Given the description of an element on the screen output the (x, y) to click on. 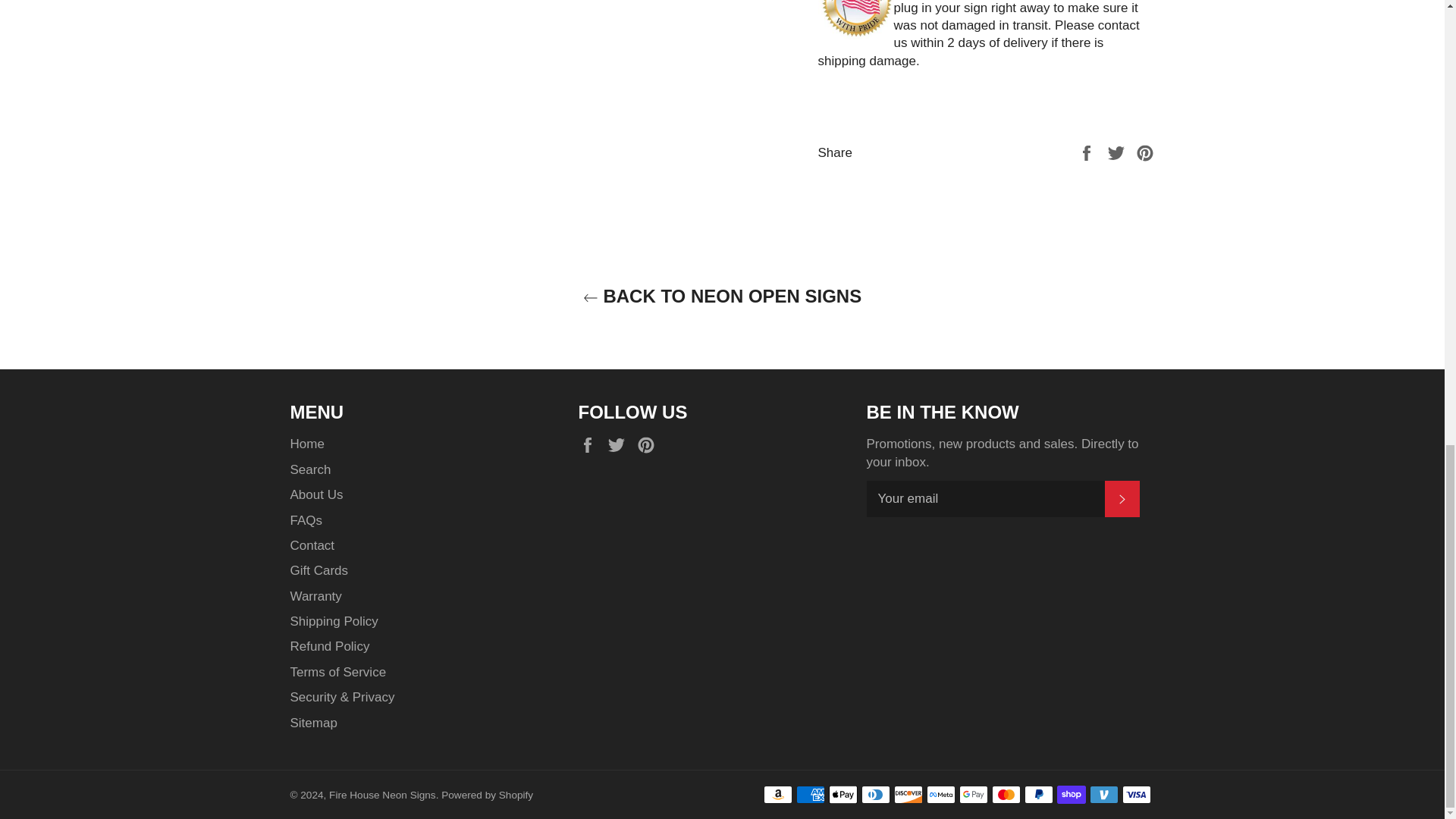
Fire House Neon Signs on Twitter (620, 444)
Share on Facebook (1088, 152)
Pin on Pinterest (1144, 152)
Tweet on Twitter (1117, 152)
Fire House Neon Signs on Pinterest (649, 444)
Fire House Neon Signs on Facebook (591, 444)
